Given the description of an element on the screen output the (x, y) to click on. 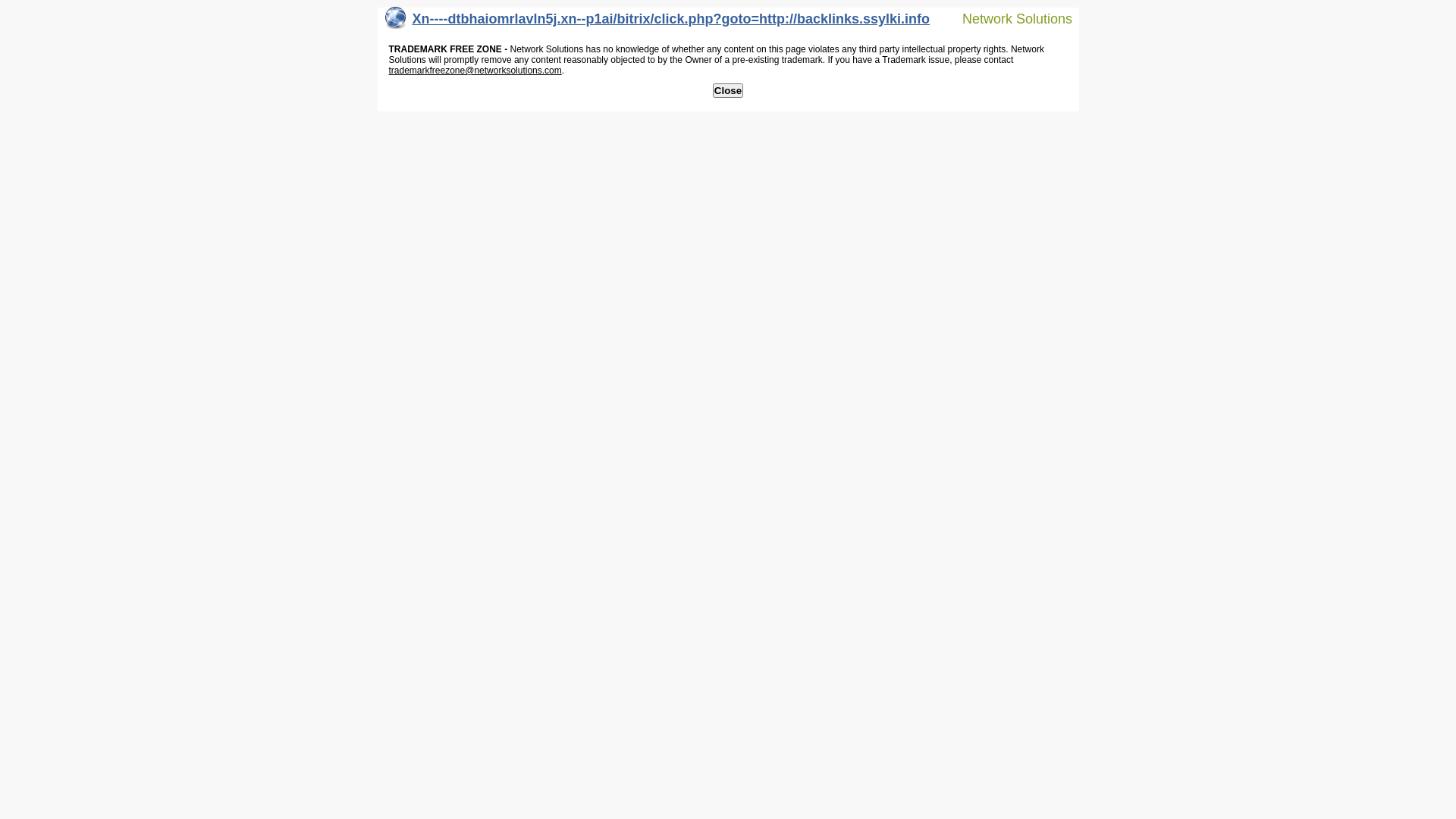
Network Solutions Element type: text (1007, 17)
Close Element type: text (727, 90)
trademarkfreezone@networksolutions.com Element type: text (474, 70)
